Given the description of an element on the screen output the (x, y) to click on. 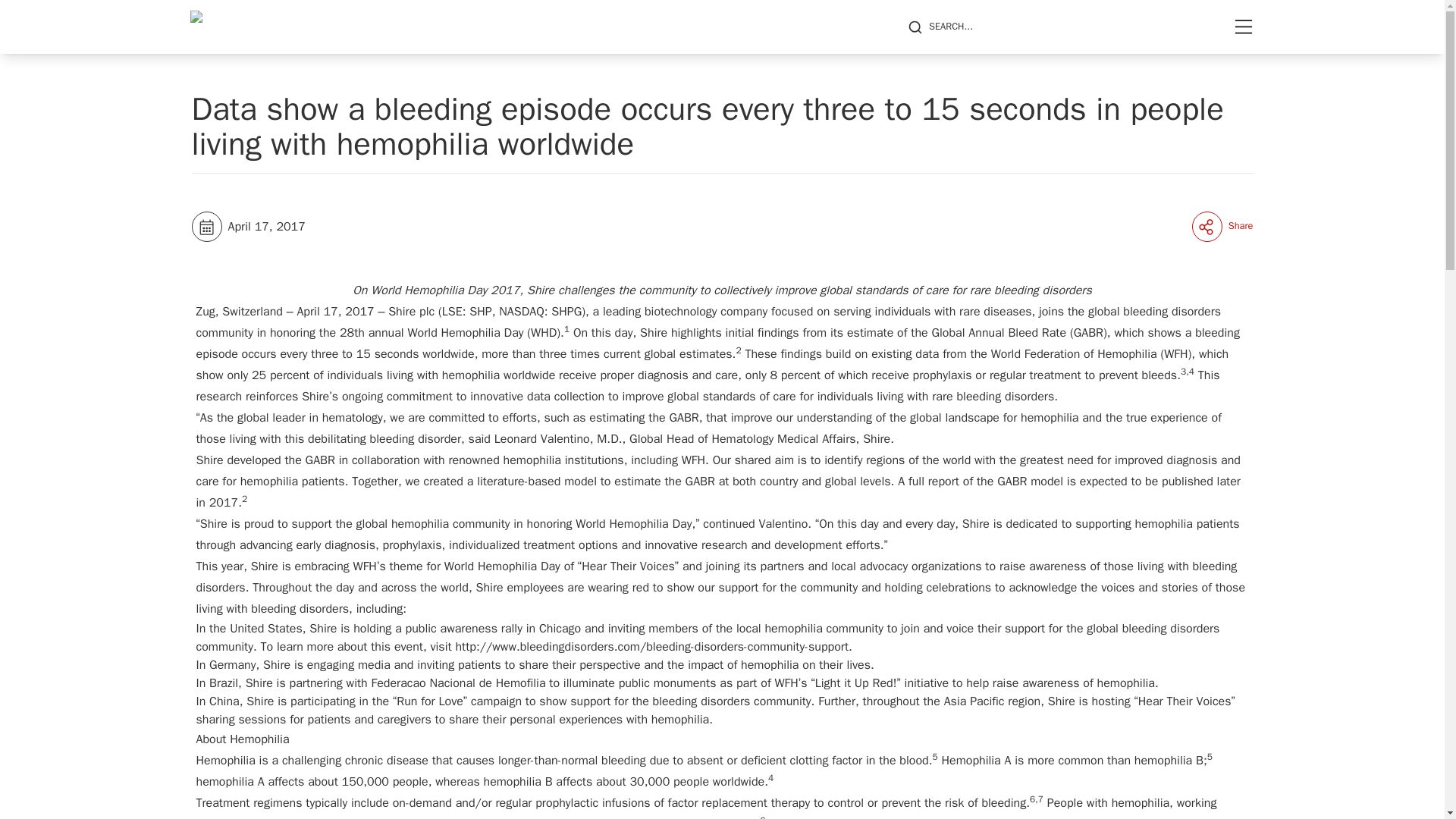
Search... (939, 27)
